Given the description of an element on the screen output the (x, y) to click on. 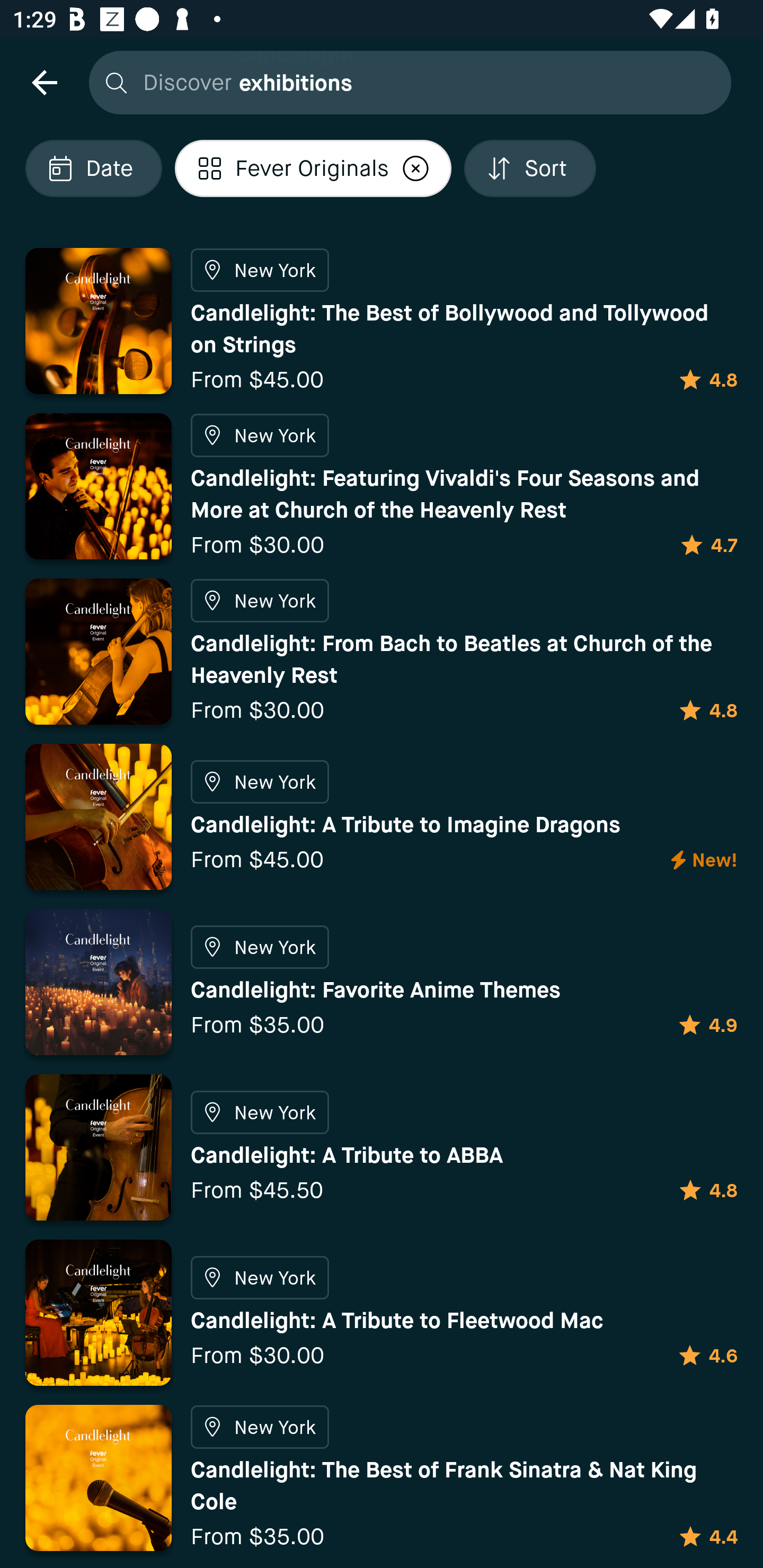
navigation icon (44, 81)
Discover candlelight exhibitions (405, 81)
Localized description Date (93, 168)
Localized description (415, 168)
Localized description Sort (529, 168)
